Given the description of an element on the screen output the (x, y) to click on. 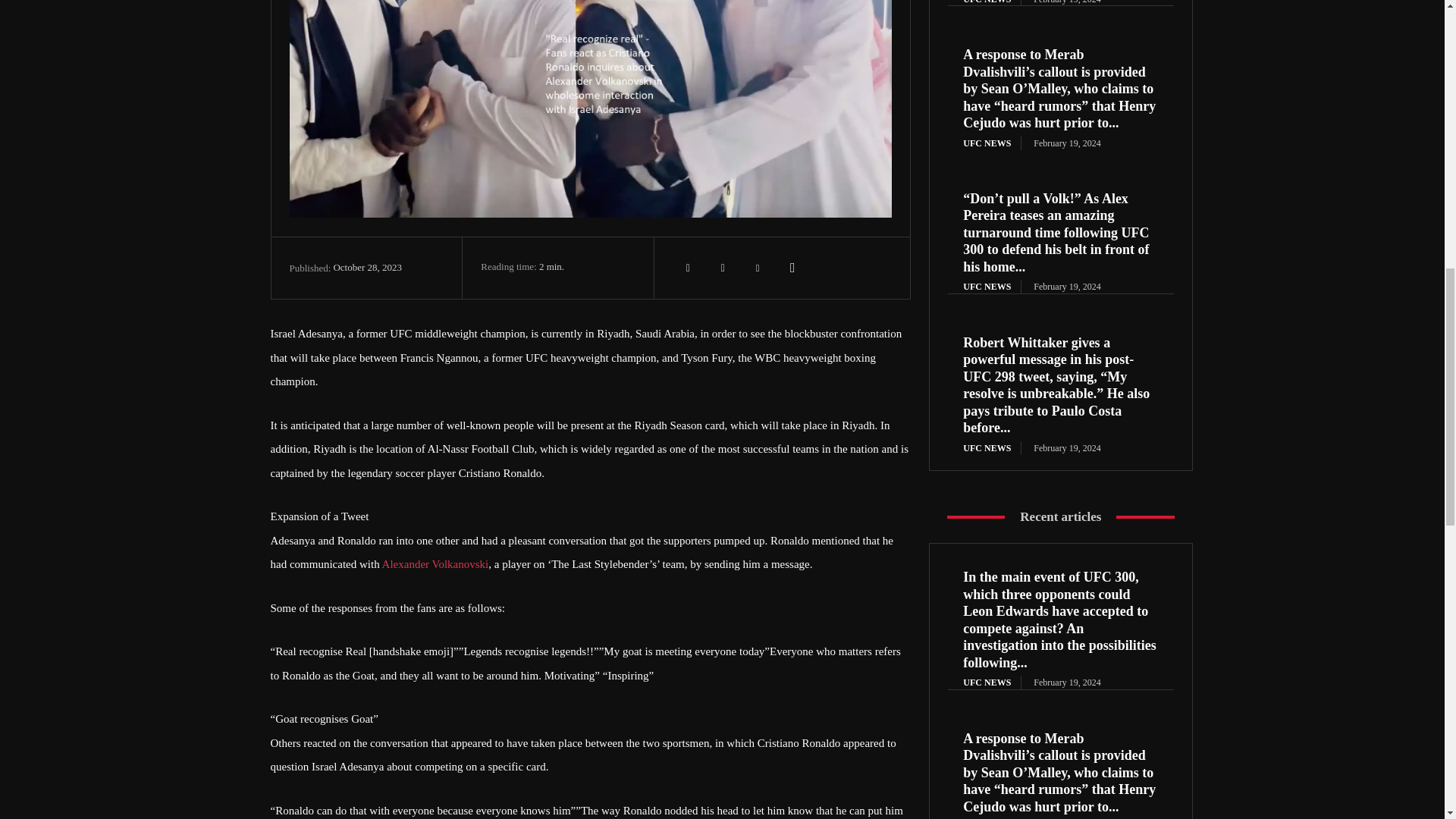
c8160-16984660436454-1920 (590, 109)
Alexander Volkanovski (435, 563)
WhatsApp (792, 267)
Pinterest (757, 267)
Twitter (722, 267)
Facebook (687, 267)
